Given the description of an element on the screen output the (x, y) to click on. 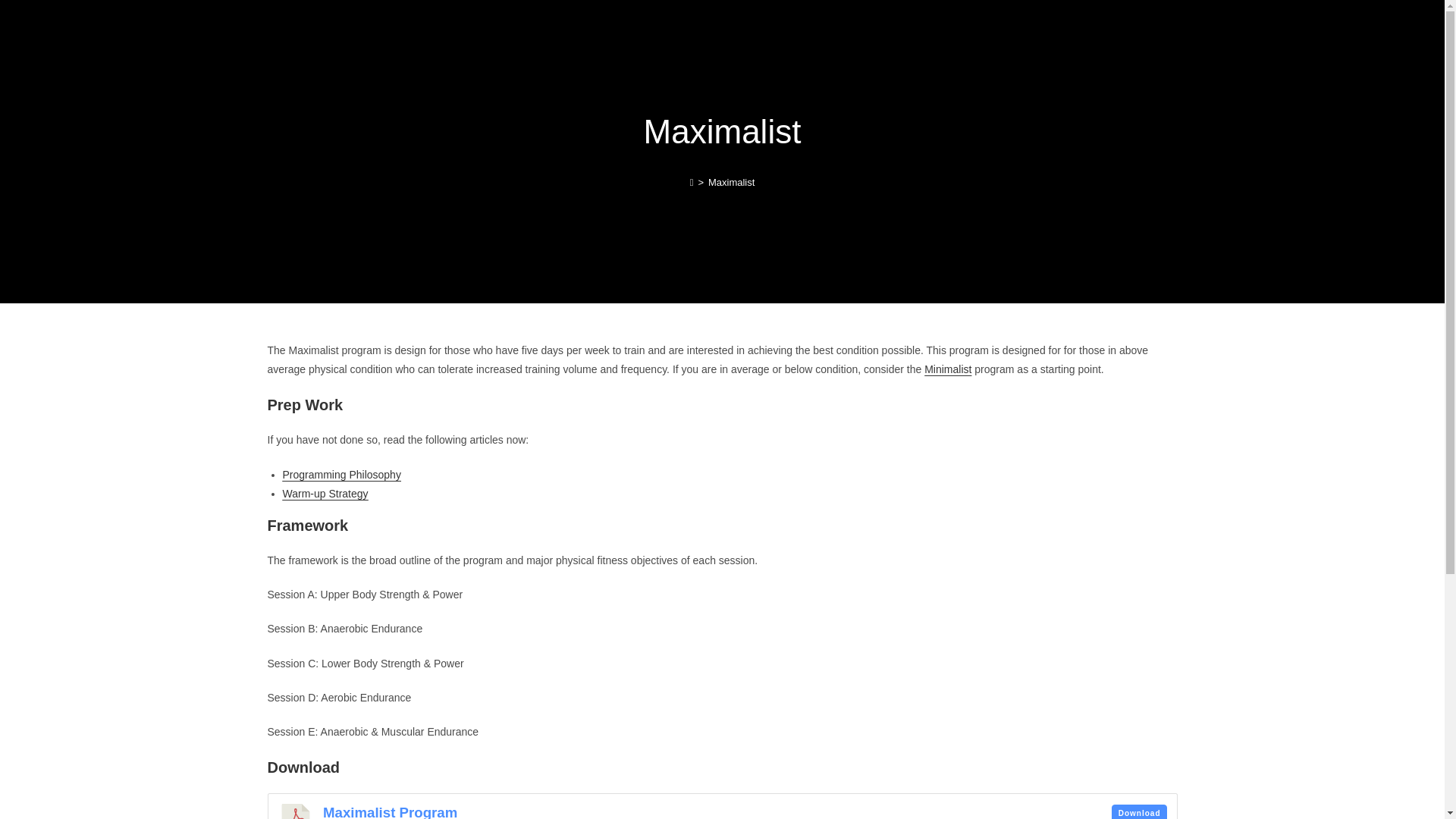
Download (1139, 811)
Minimalist (947, 369)
Programming Philosophy (341, 474)
Maximalist Program (390, 811)
Warm-up Strategy (325, 493)
Maximalist (730, 182)
